Given the description of an element on the screen output the (x, y) to click on. 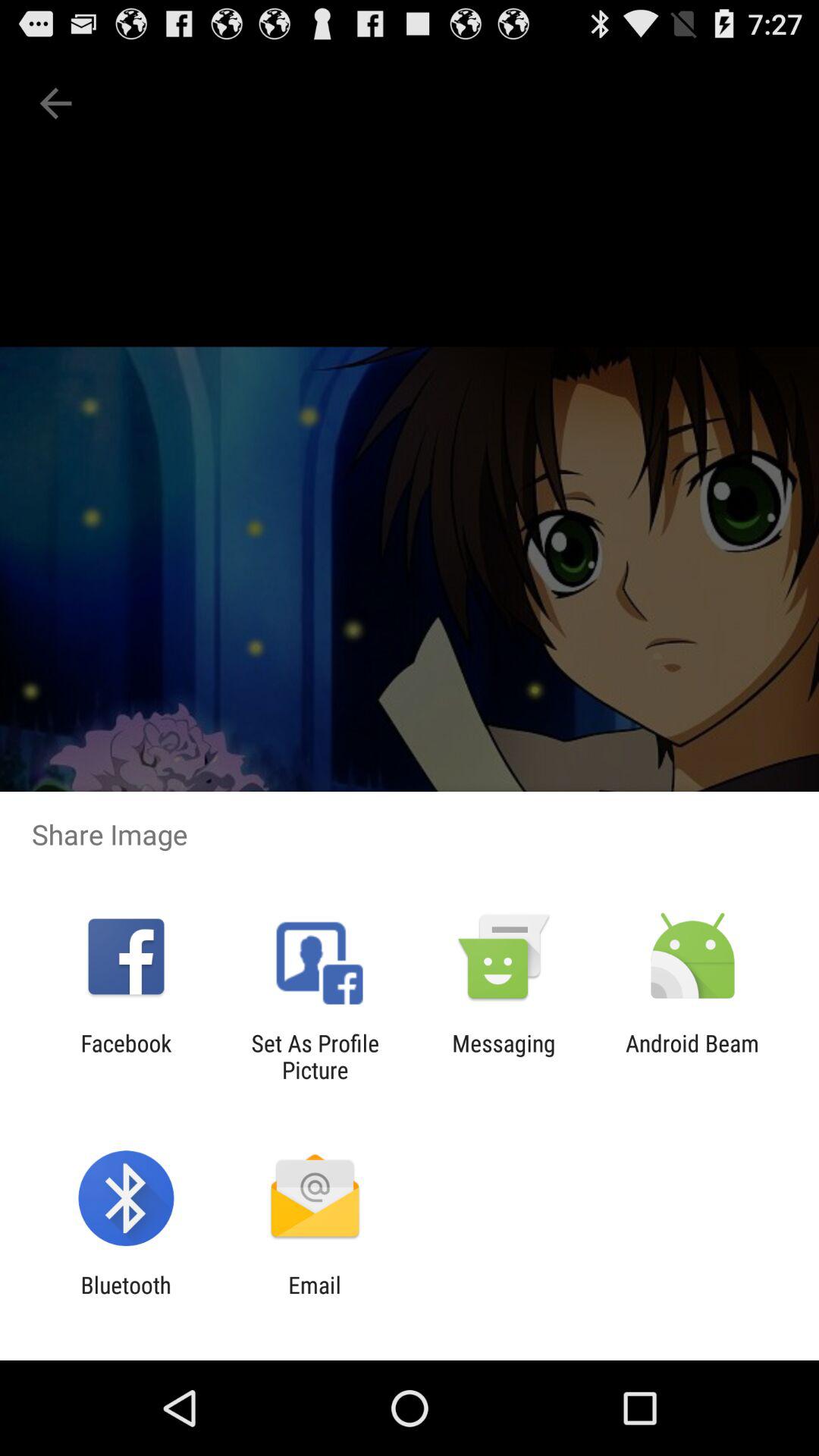
tap icon to the left of email icon (125, 1298)
